Given the description of an element on the screen output the (x, y) to click on. 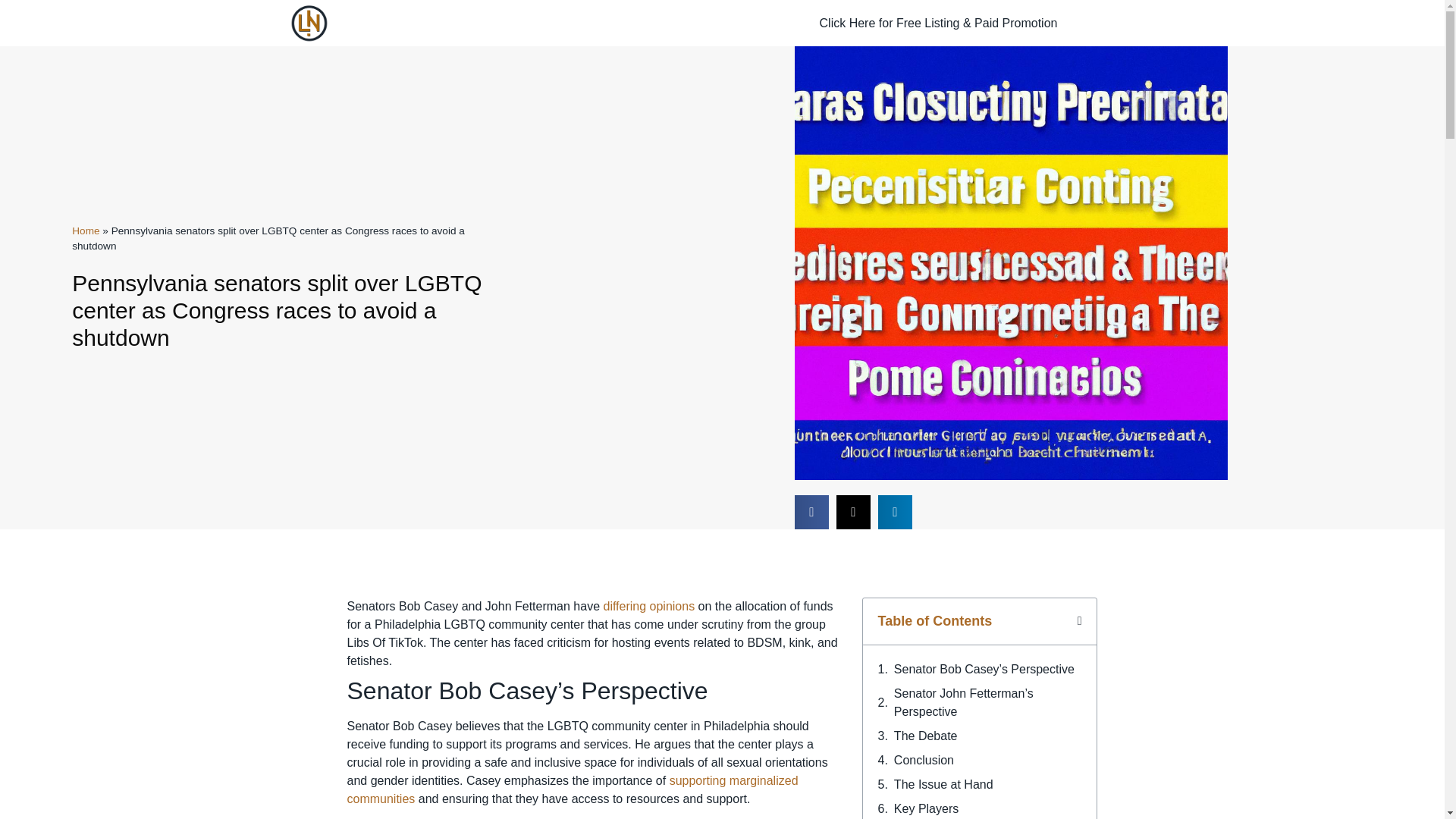
Home (85, 230)
supporting (699, 780)
The Issue at Hand (942, 784)
The Debate (925, 736)
marginalized communities (572, 789)
differing opinions (648, 604)
Conclusion (923, 760)
Key Players (925, 809)
